Given the description of an element on the screen output the (x, y) to click on. 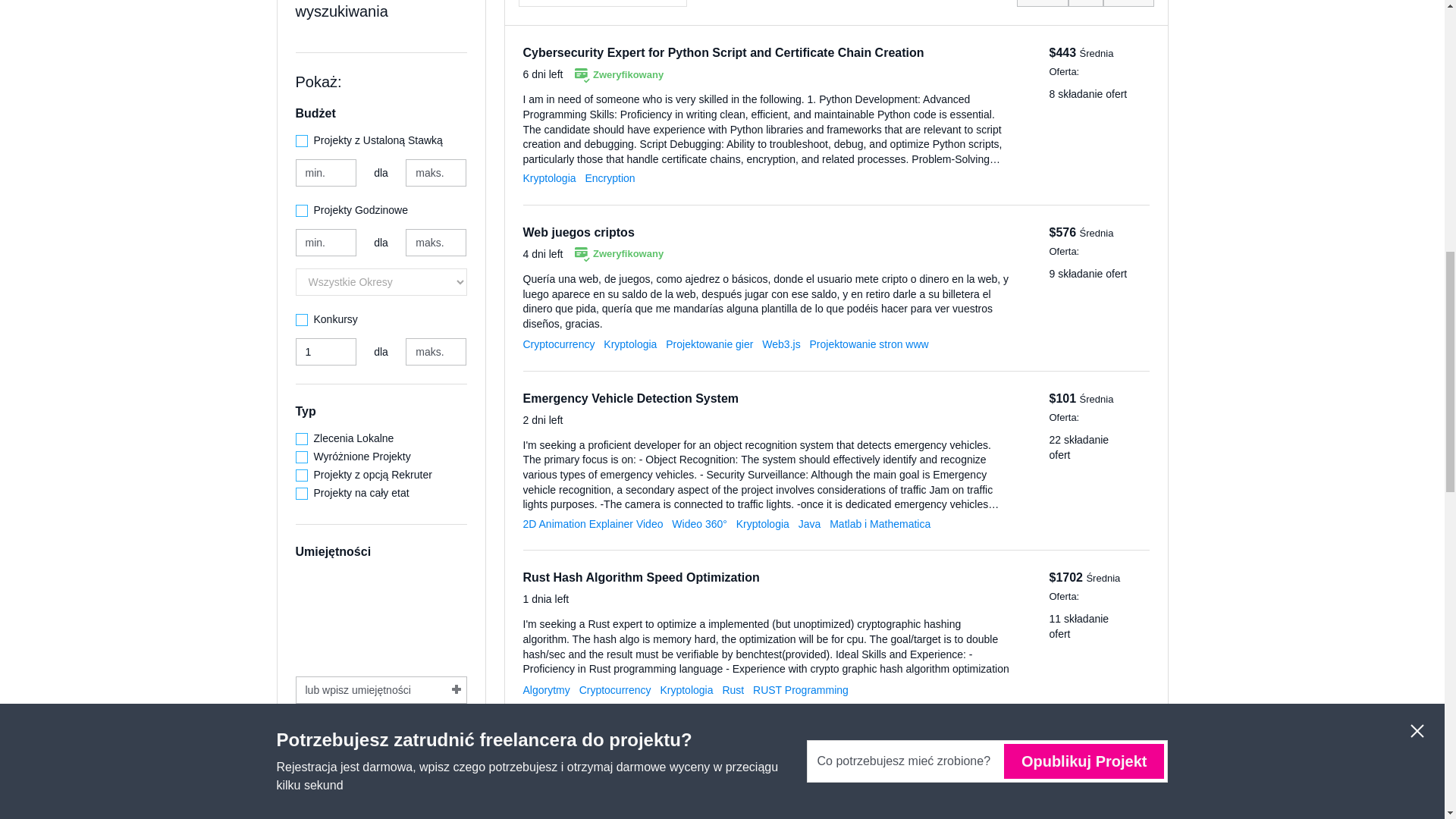
Kryptologia (549, 177)
Emergency Vehicle Detection System (630, 398)
1 (325, 351)
2D Animation Explainer Video (592, 523)
Projektowanie gier (708, 344)
Cryptocurrency (558, 344)
Java (809, 523)
Web3.js (780, 344)
Projektowanie stron www (868, 344)
Encryption (609, 177)
